Given the description of an element on the screen output the (x, y) to click on. 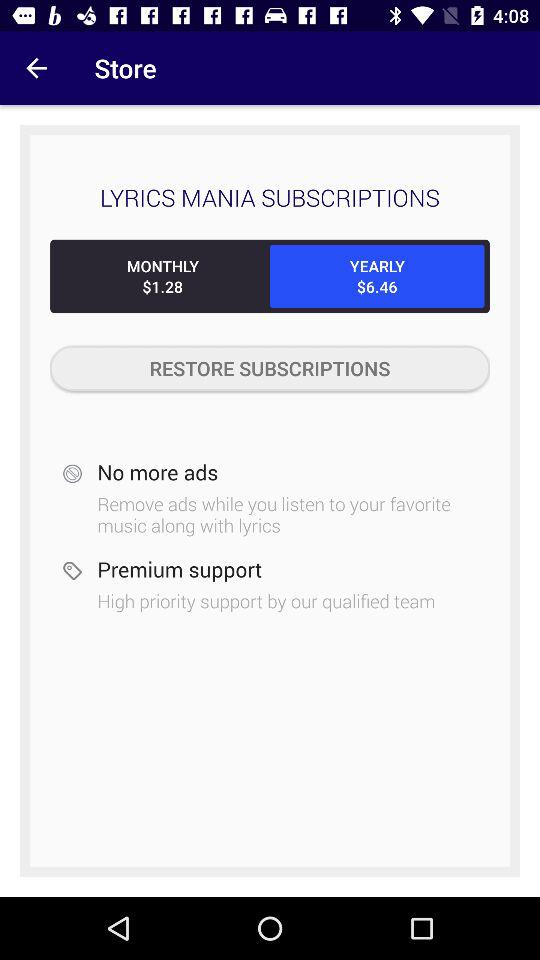
tap the restore subscriptions (269, 368)
